Given the description of an element on the screen output the (x, y) to click on. 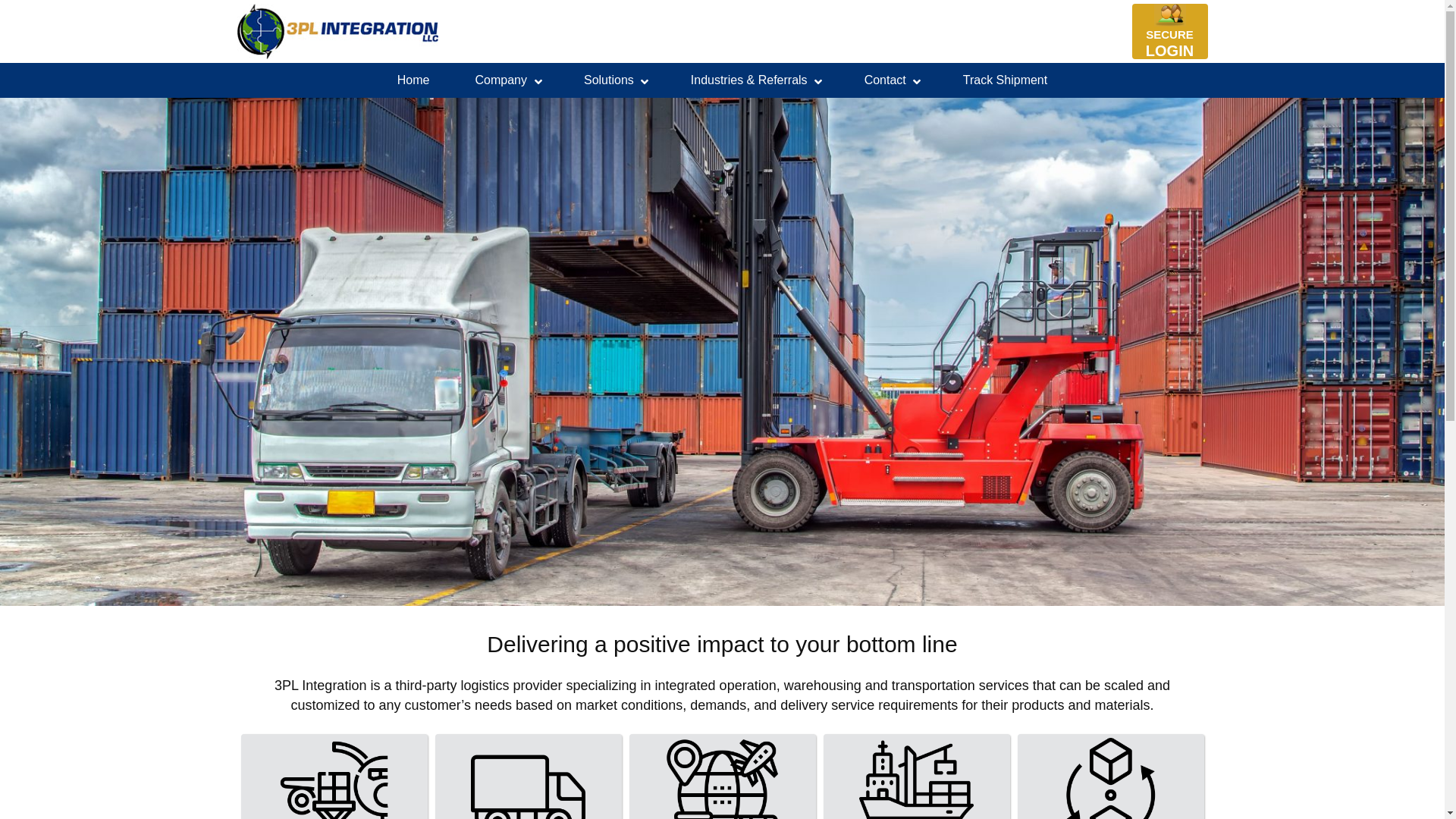
Track Shipment Element type: text (1005, 79)
SECURE
LOGIN Element type: text (1168, 43)
3pl integration logo Element type: hover (336, 31)
Home Element type: text (413, 79)
